Given the description of an element on the screen output the (x, y) to click on. 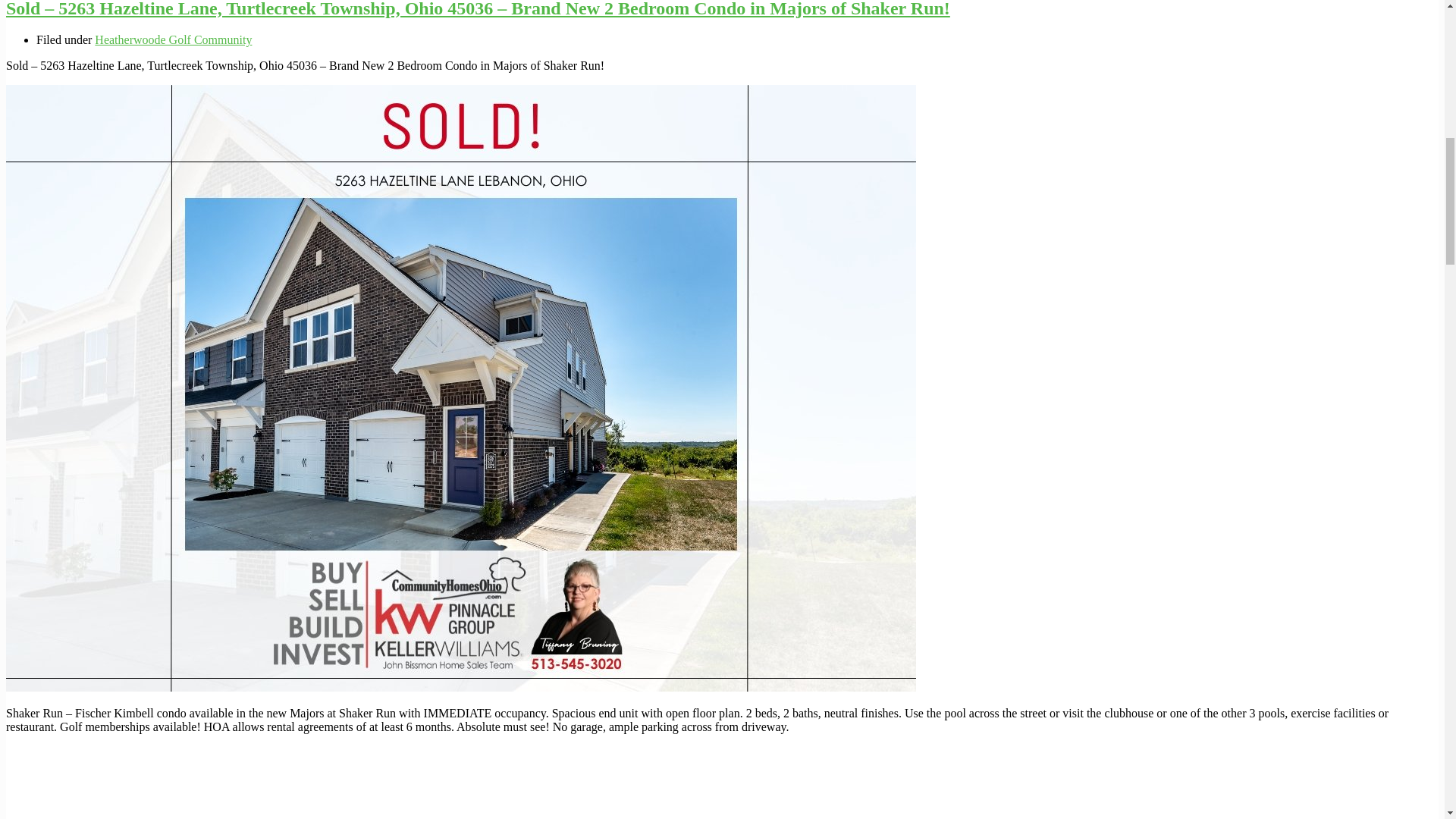
Heatherwoode Golf Community (172, 39)
